Given the description of an element on the screen output the (x, y) to click on. 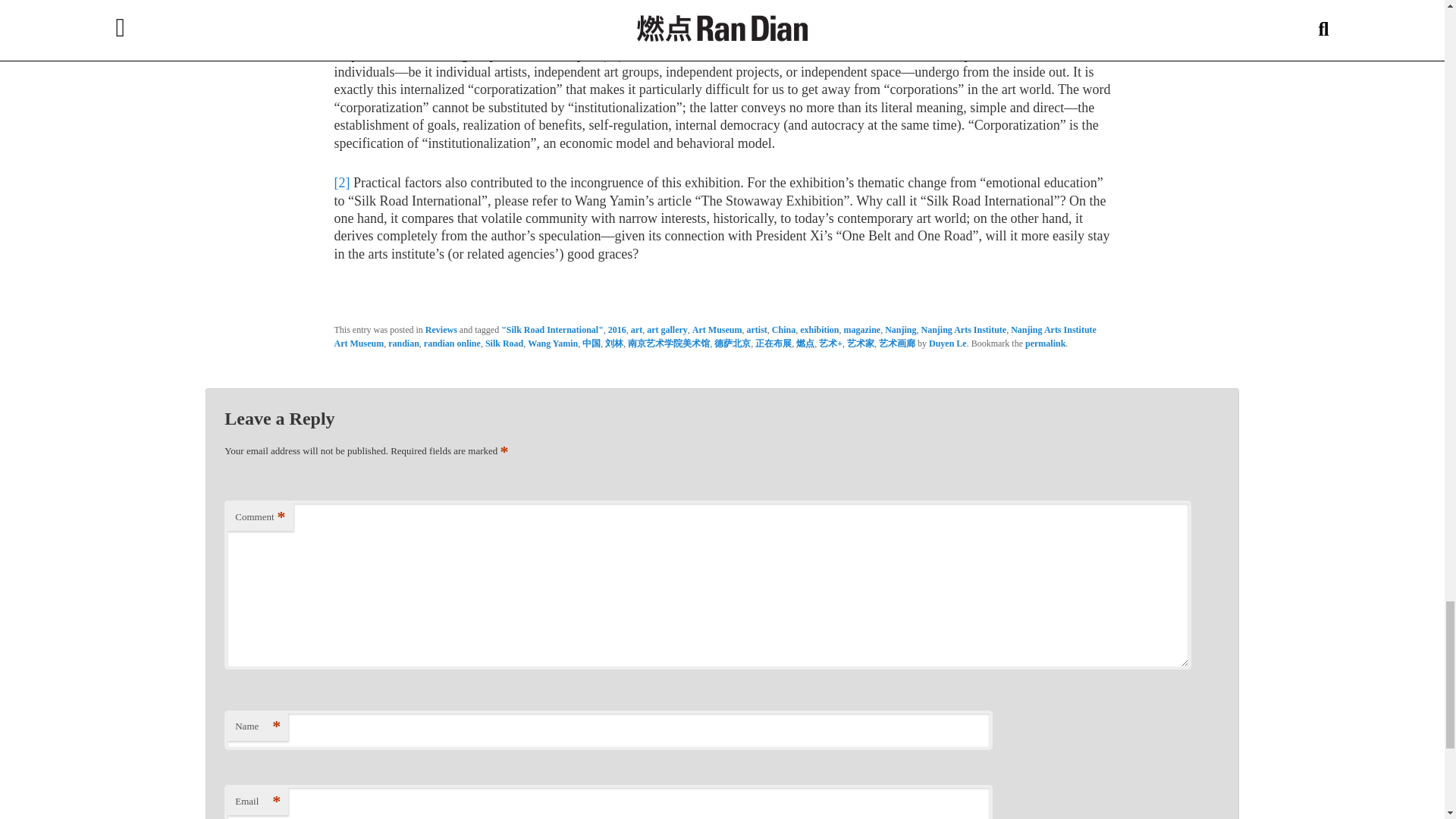
2016 (617, 329)
art (636, 329)
Art Museum (717, 329)
Permalink to A Temporary Coalition of Small Producers (1045, 343)
exhibition (818, 329)
Nanjing (900, 329)
art gallery (666, 329)
artist (756, 329)
China (782, 329)
magazine (862, 329)
"Silk Road International" (552, 329)
Reviews (441, 329)
